Given the description of an element on the screen output the (x, y) to click on. 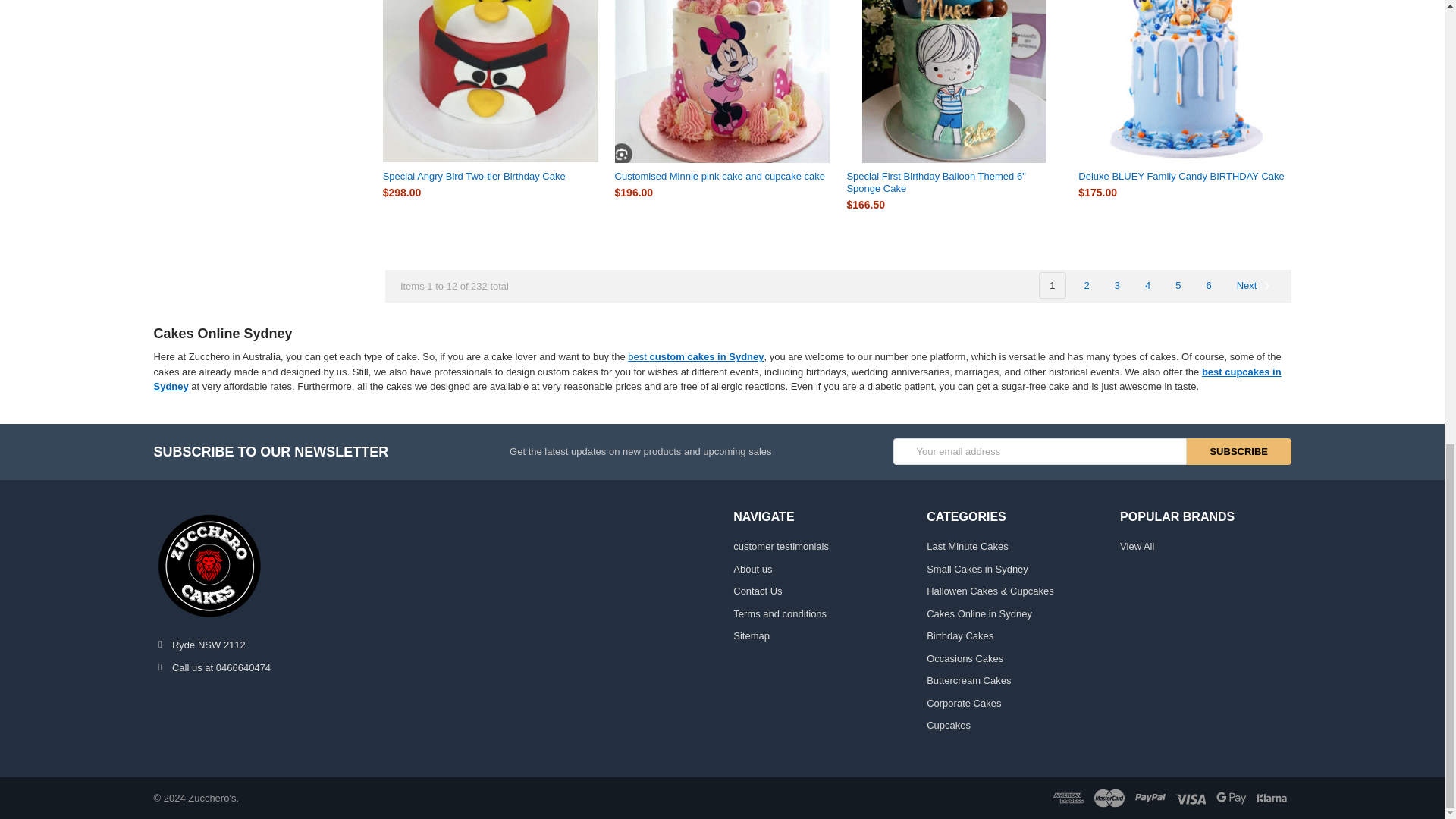
Subscribe (1238, 451)
